Given the description of an element on the screen output the (x, y) to click on. 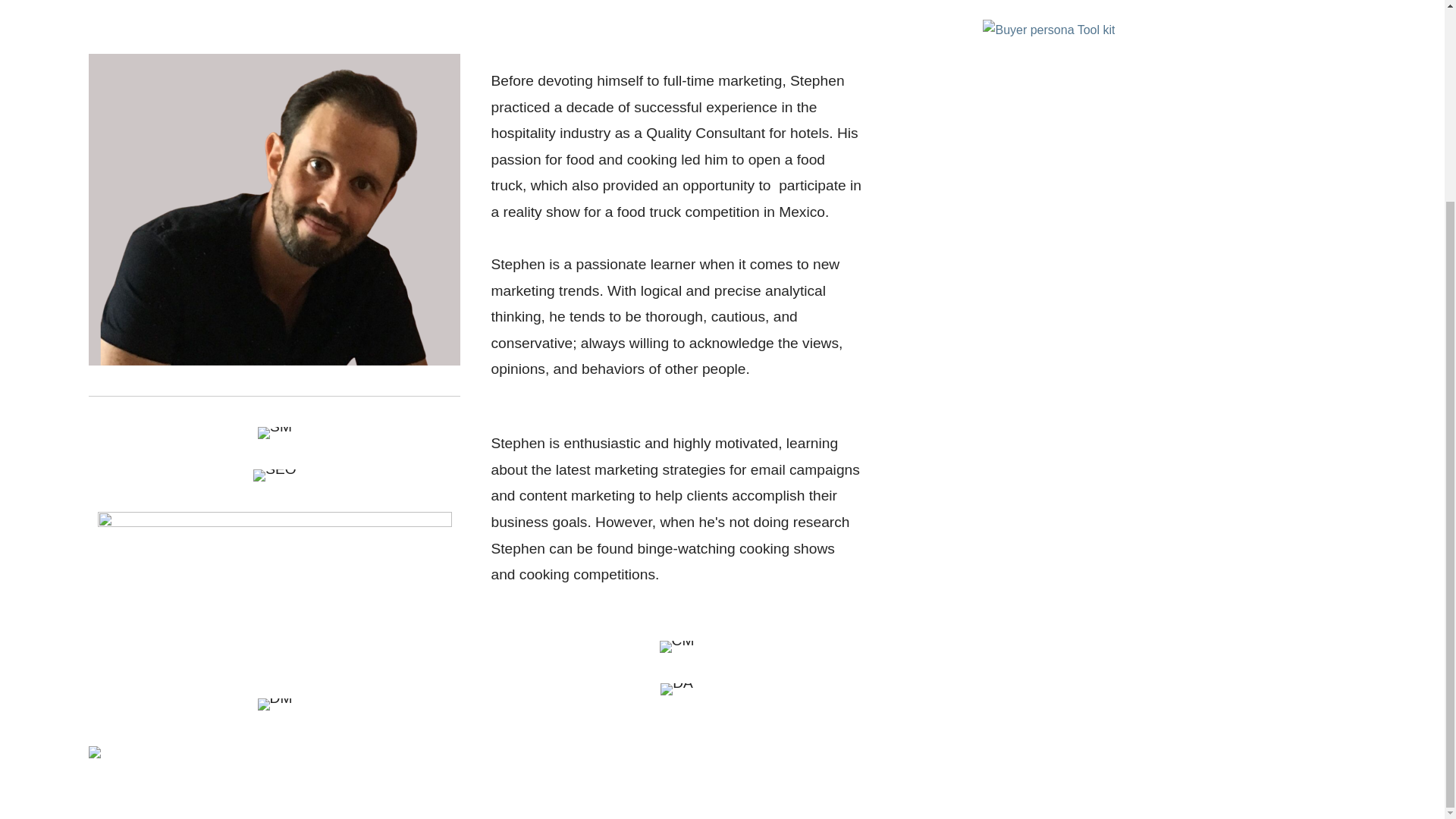
DA (677, 688)
DM (274, 704)
SM (274, 432)
CM (676, 645)
SEO (275, 475)
Picture SH (274, 209)
